Given the description of an element on the screen output the (x, y) to click on. 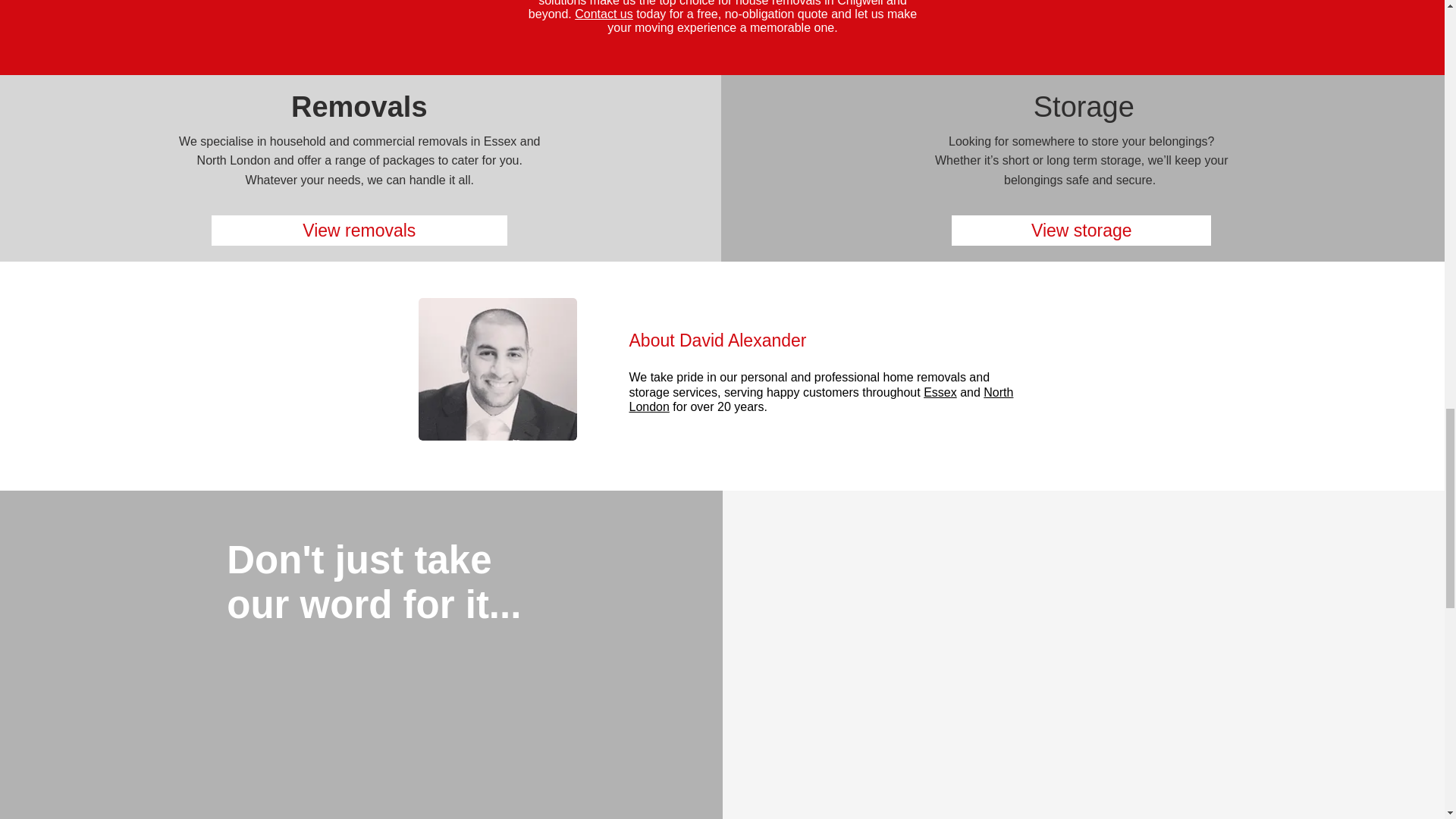
North London (820, 399)
Essex (939, 391)
View removals (358, 230)
Contact us (603, 13)
View storage (1081, 230)
